Given the description of an element on the screen output the (x, y) to click on. 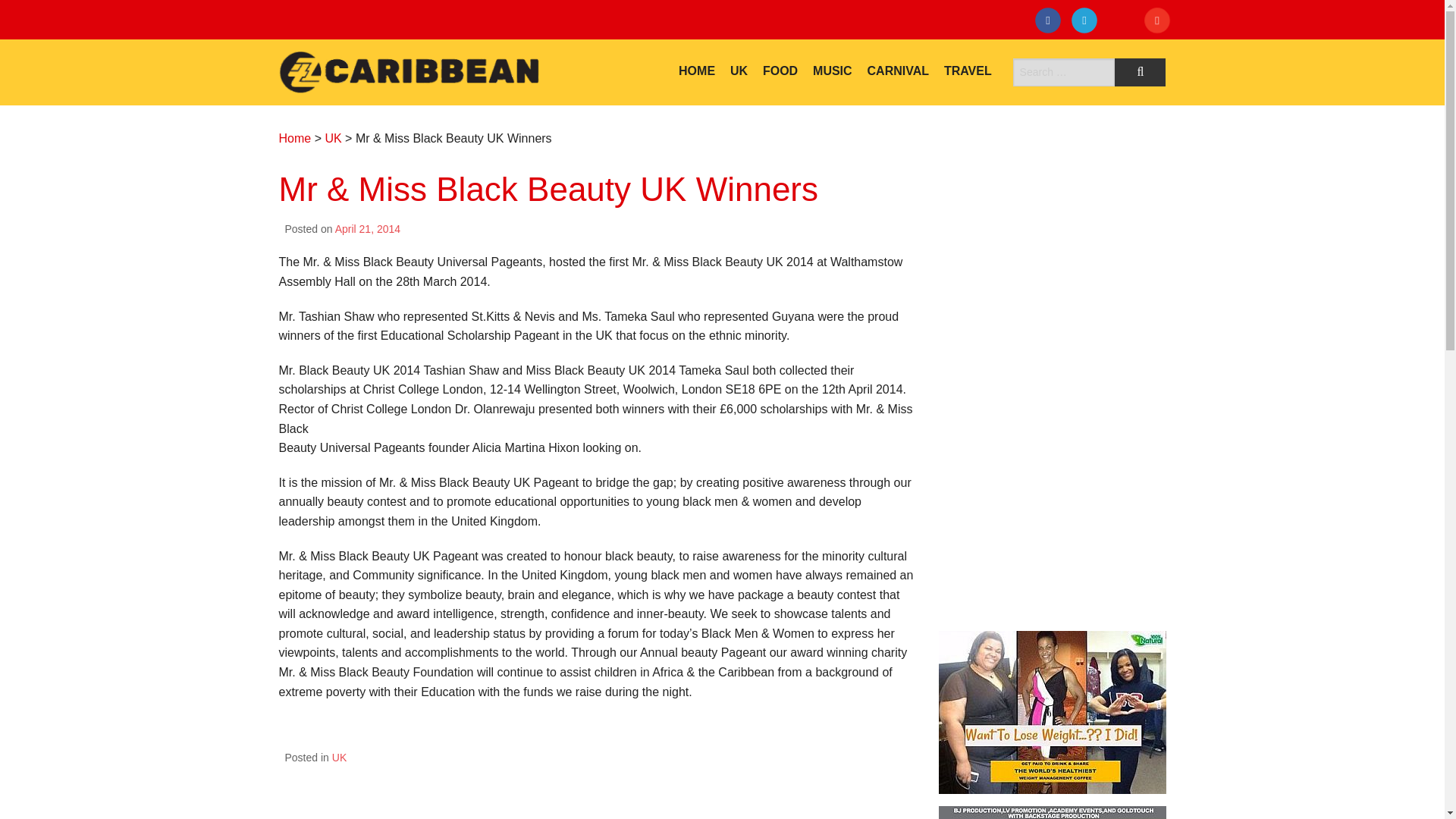
Search (1140, 72)
Pinterest (1160, 23)
UK (338, 757)
CARNIVAL (897, 70)
Instagram (1124, 23)
Home (295, 137)
UK (332, 137)
Facebook (1051, 23)
Twitter (1087, 23)
Search for: (1064, 72)
